Given the description of an element on the screen output the (x, y) to click on. 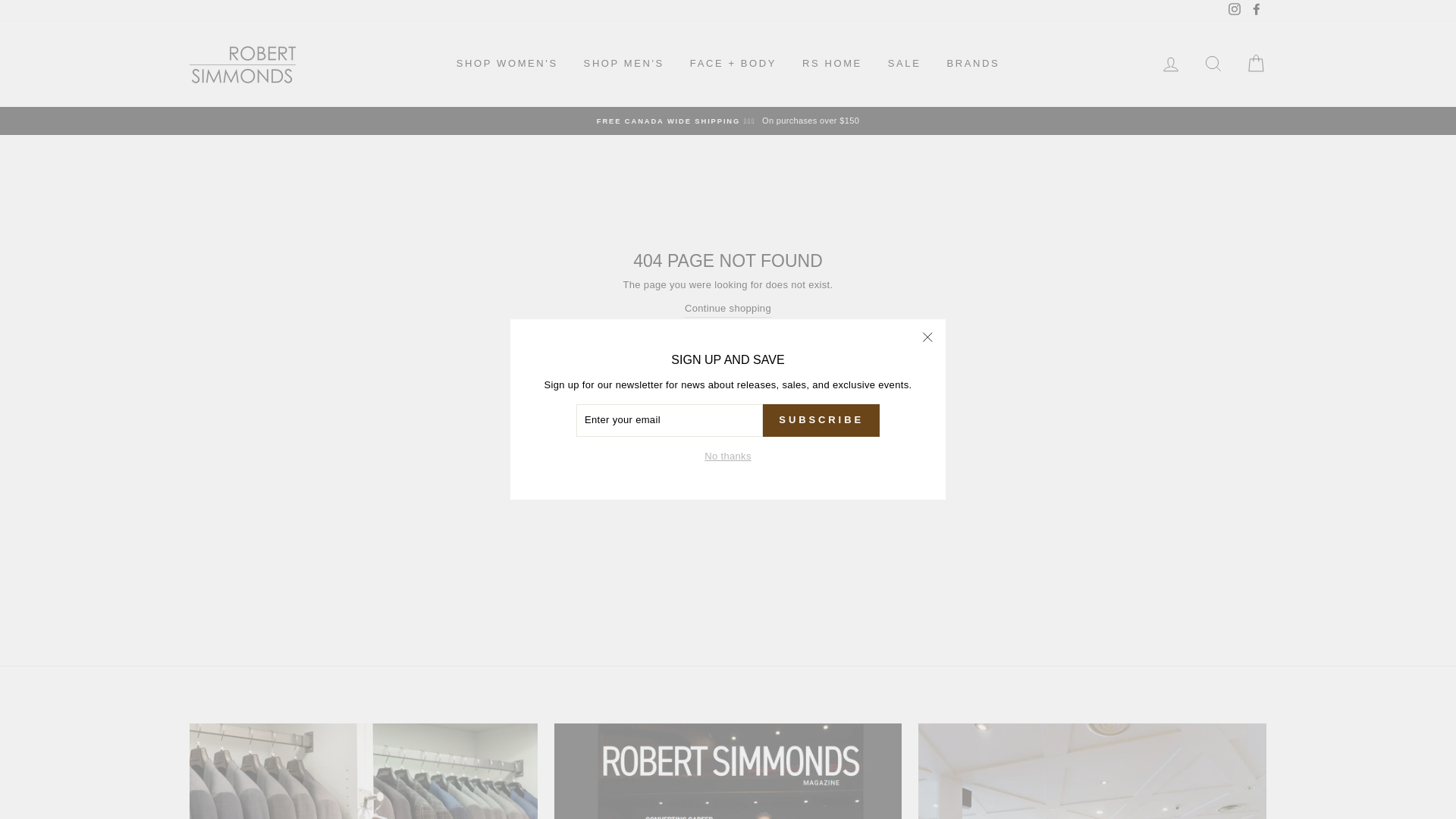
Robert Simmonds Clothing on Facebook (1256, 10)
Robert Simmonds Clothing on Instagram (1234, 10)
